Given the description of an element on the screen output the (x, y) to click on. 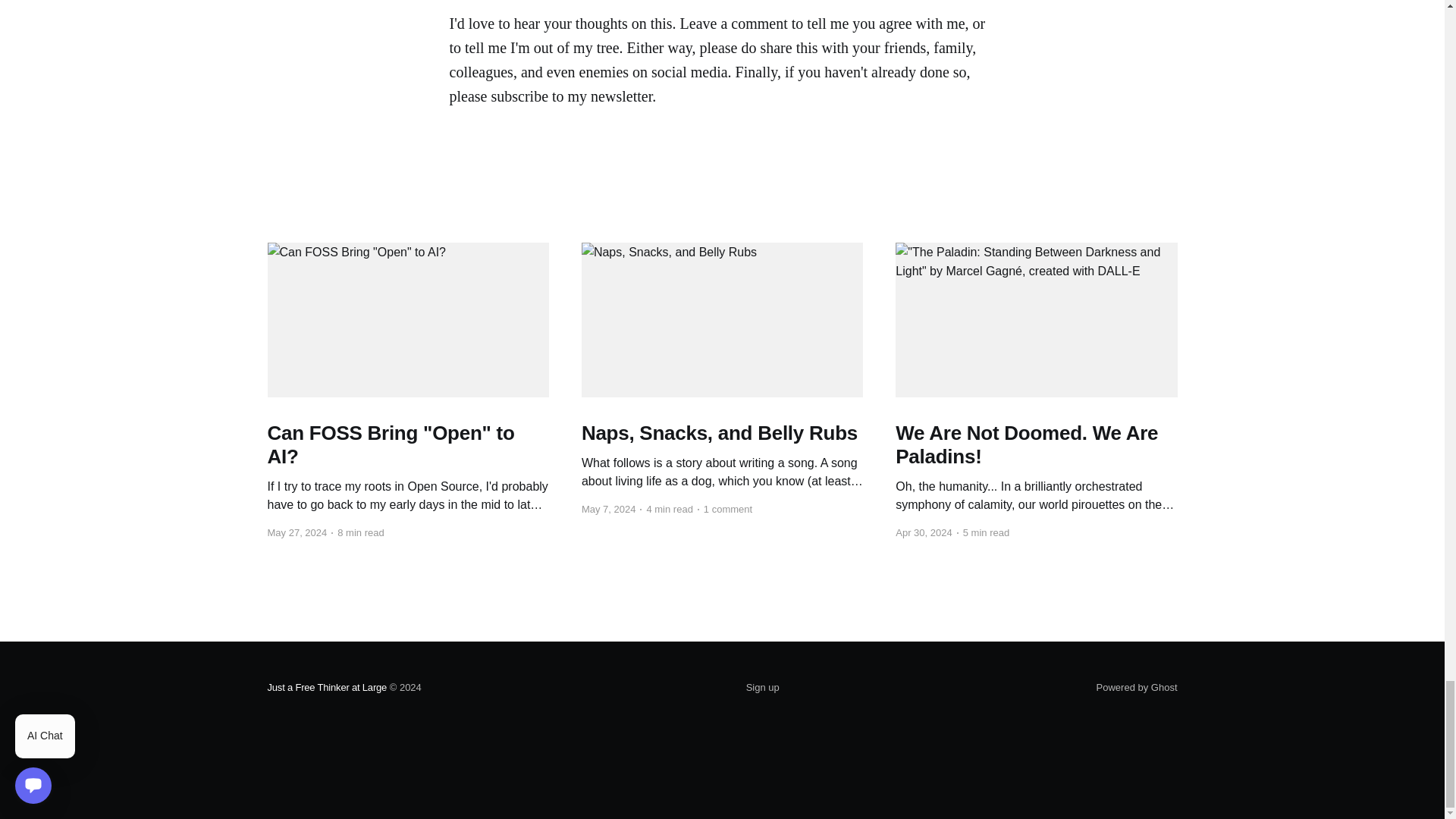
Sign up (761, 687)
Just a Free Thinker at Large (326, 686)
Powered by Ghost (1136, 686)
